Given the description of an element on the screen output the (x, y) to click on. 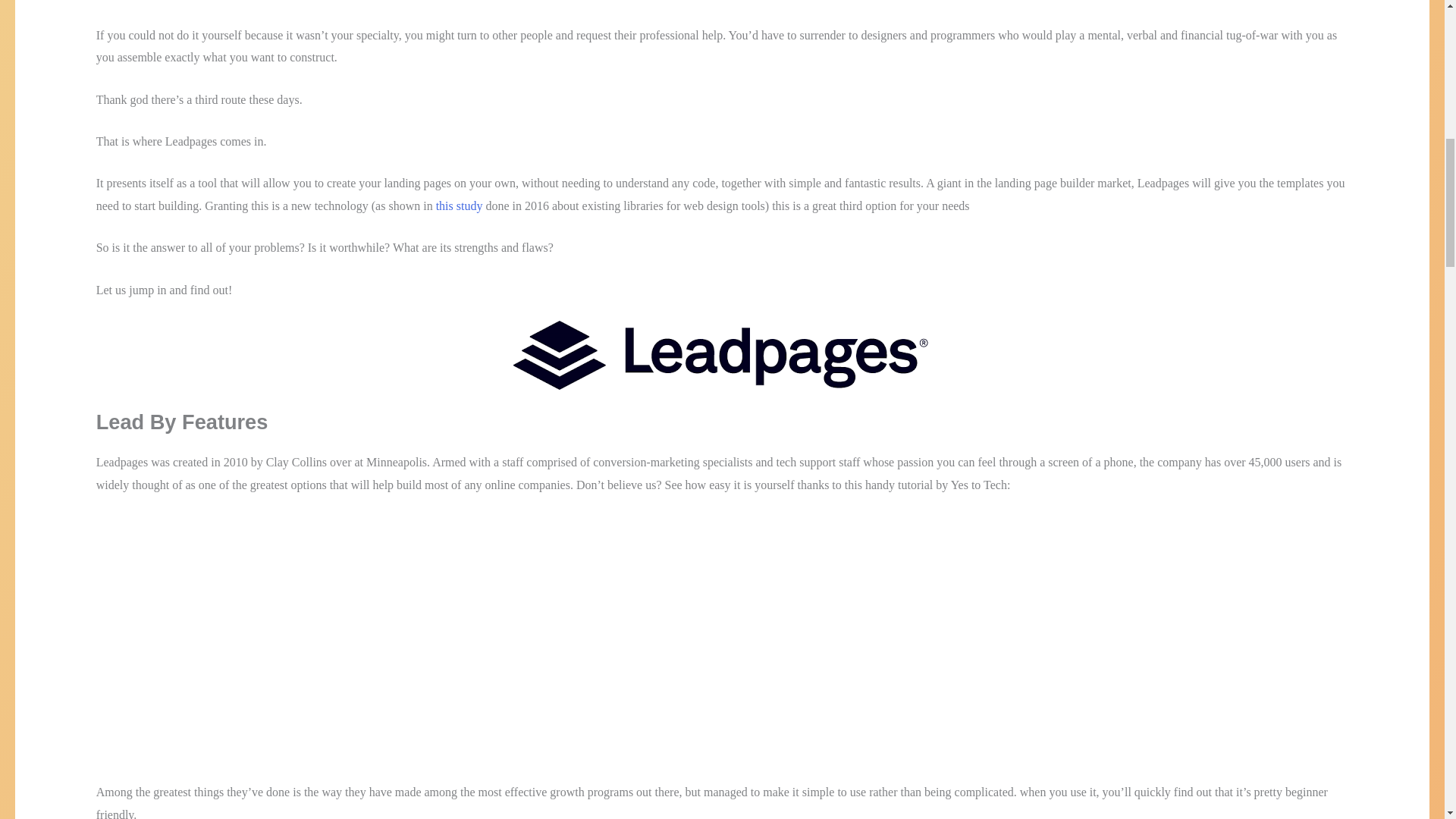
this study (459, 205)
